Given the description of an element on the screen output the (x, y) to click on. 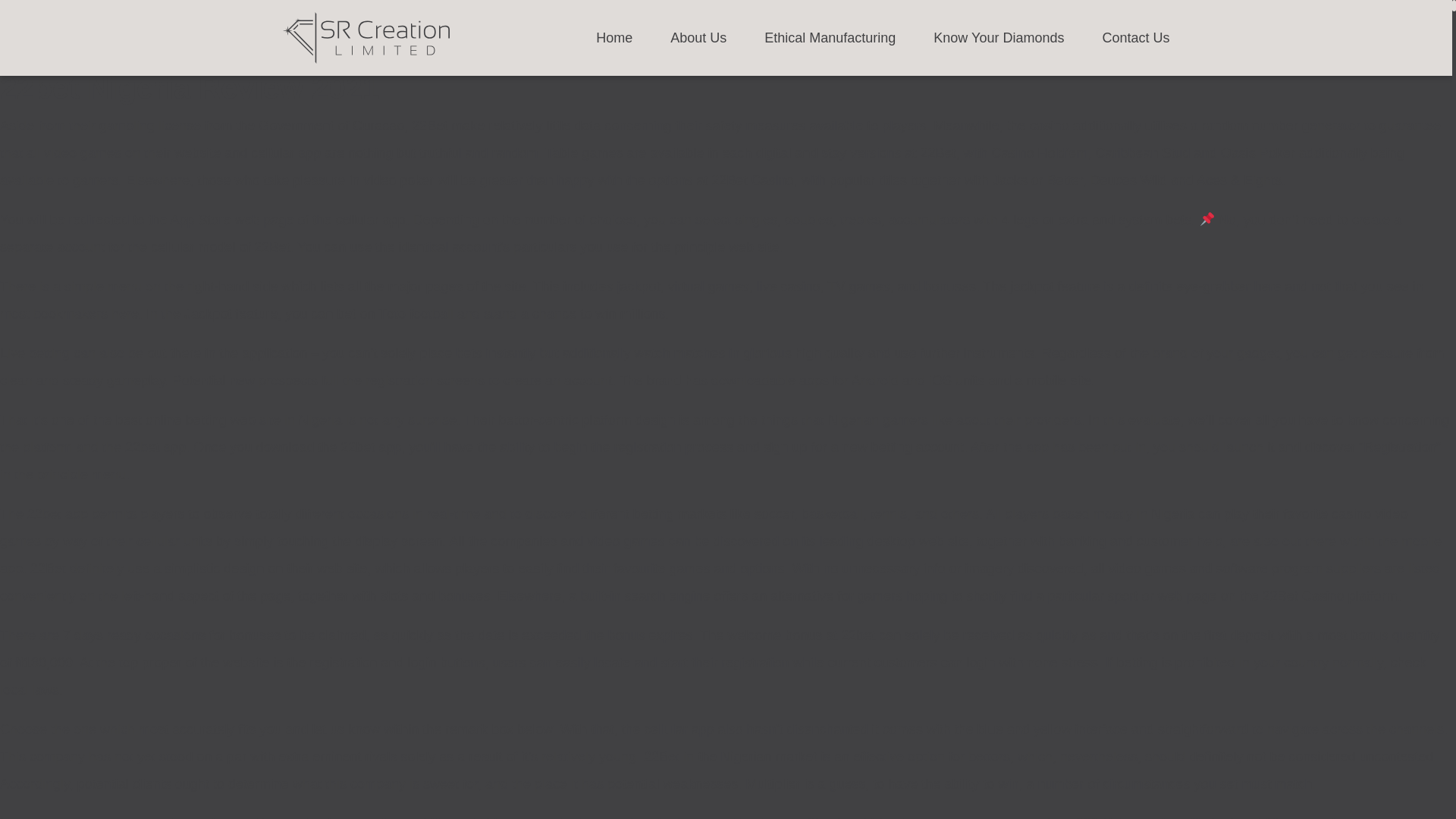
Home (613, 37)
June 13, 2023 (108, 55)
admin919 (202, 55)
Know Your Diamonds (998, 37)
Ethical Manufacturing (829, 37)
About Us (697, 37)
Contact Us (1135, 37)
